Given the description of an element on the screen output the (x, y) to click on. 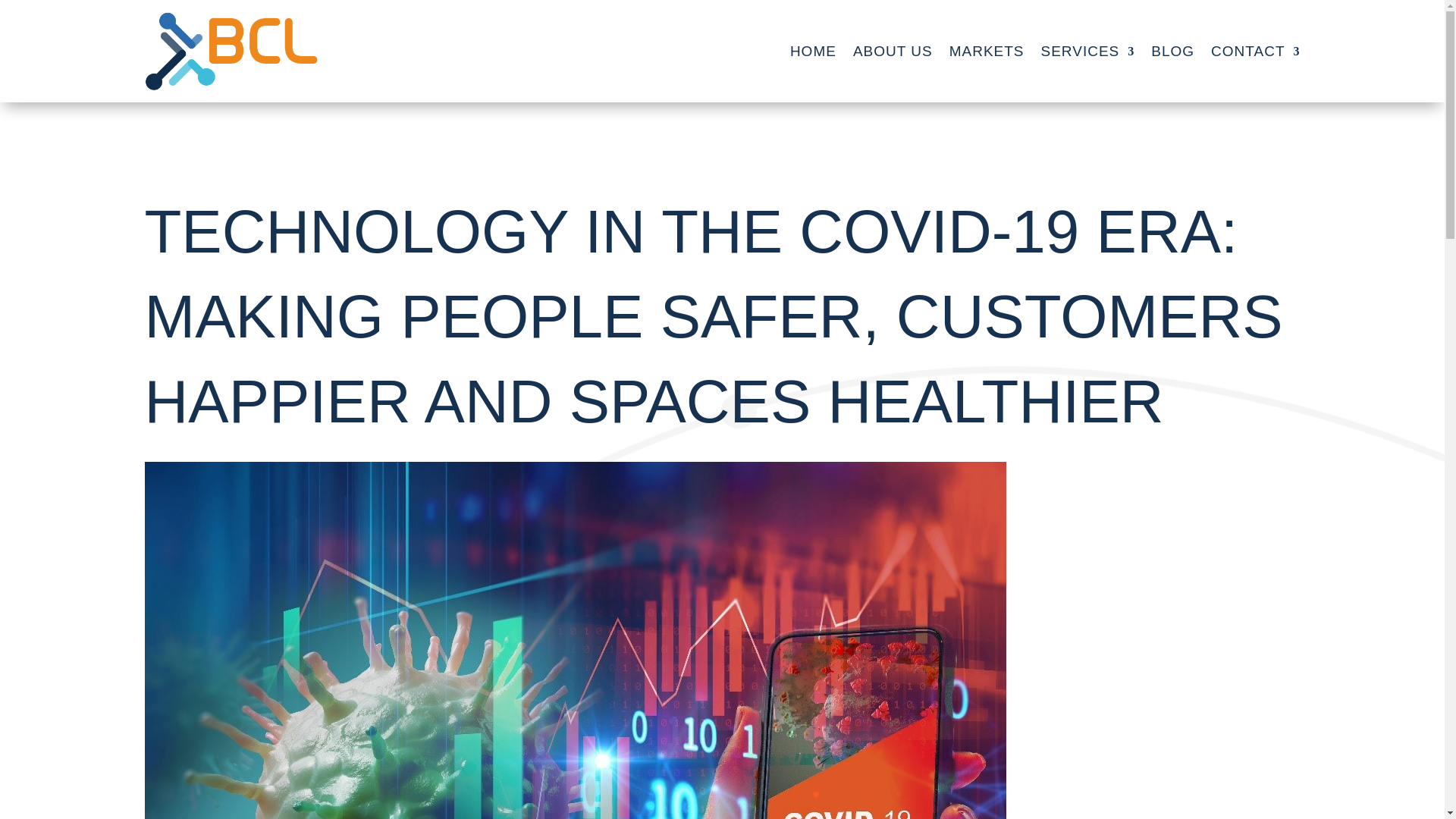
MARKETS (987, 50)
CONTACT (1255, 50)
SERVICES (1088, 50)
ABOUT US (893, 50)
